Given the description of an element on the screen output the (x, y) to click on. 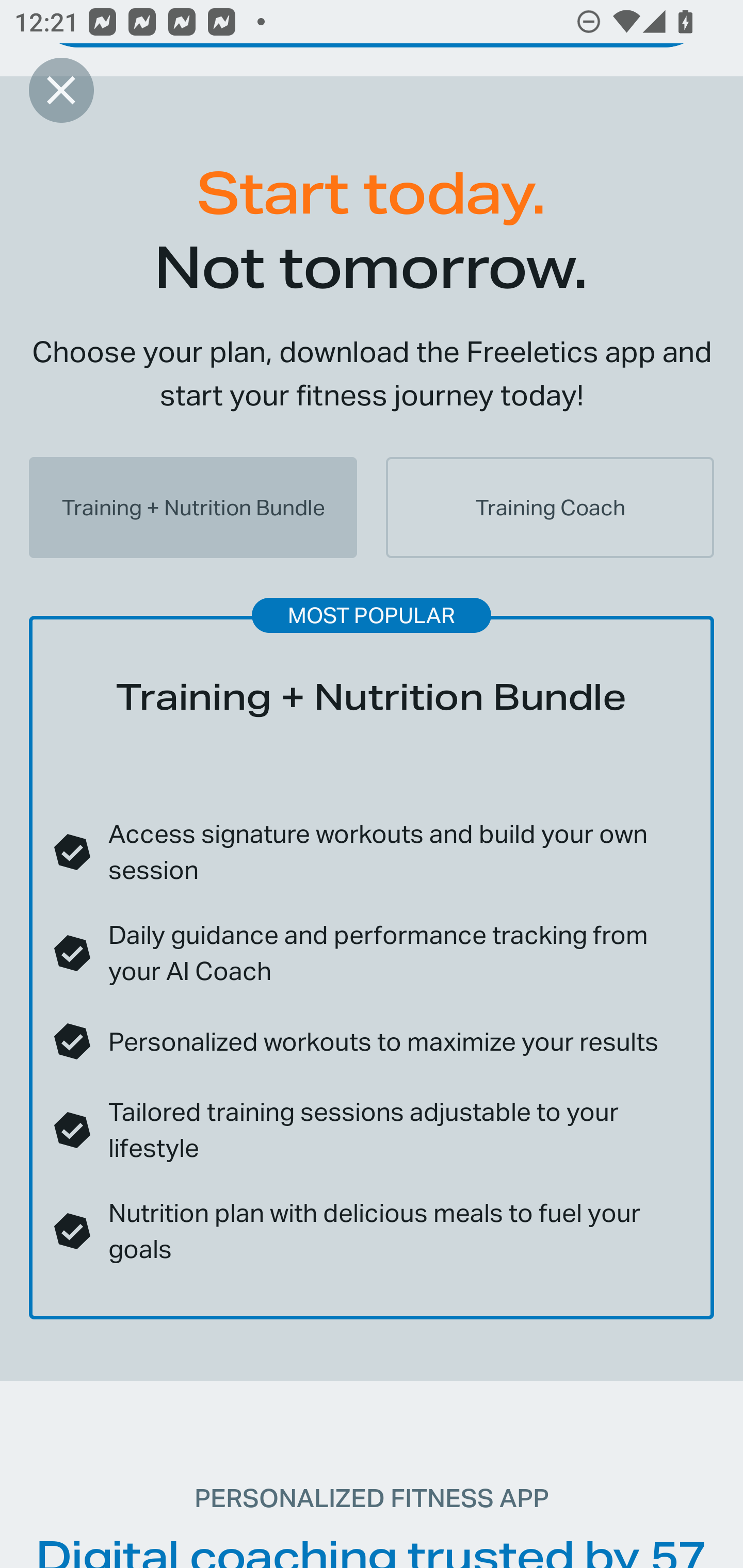
Close (60, 90)
Training + Nutrition Bundle (192, 507)
Training Coach (549, 507)
